Given the description of an element on the screen output the (x, y) to click on. 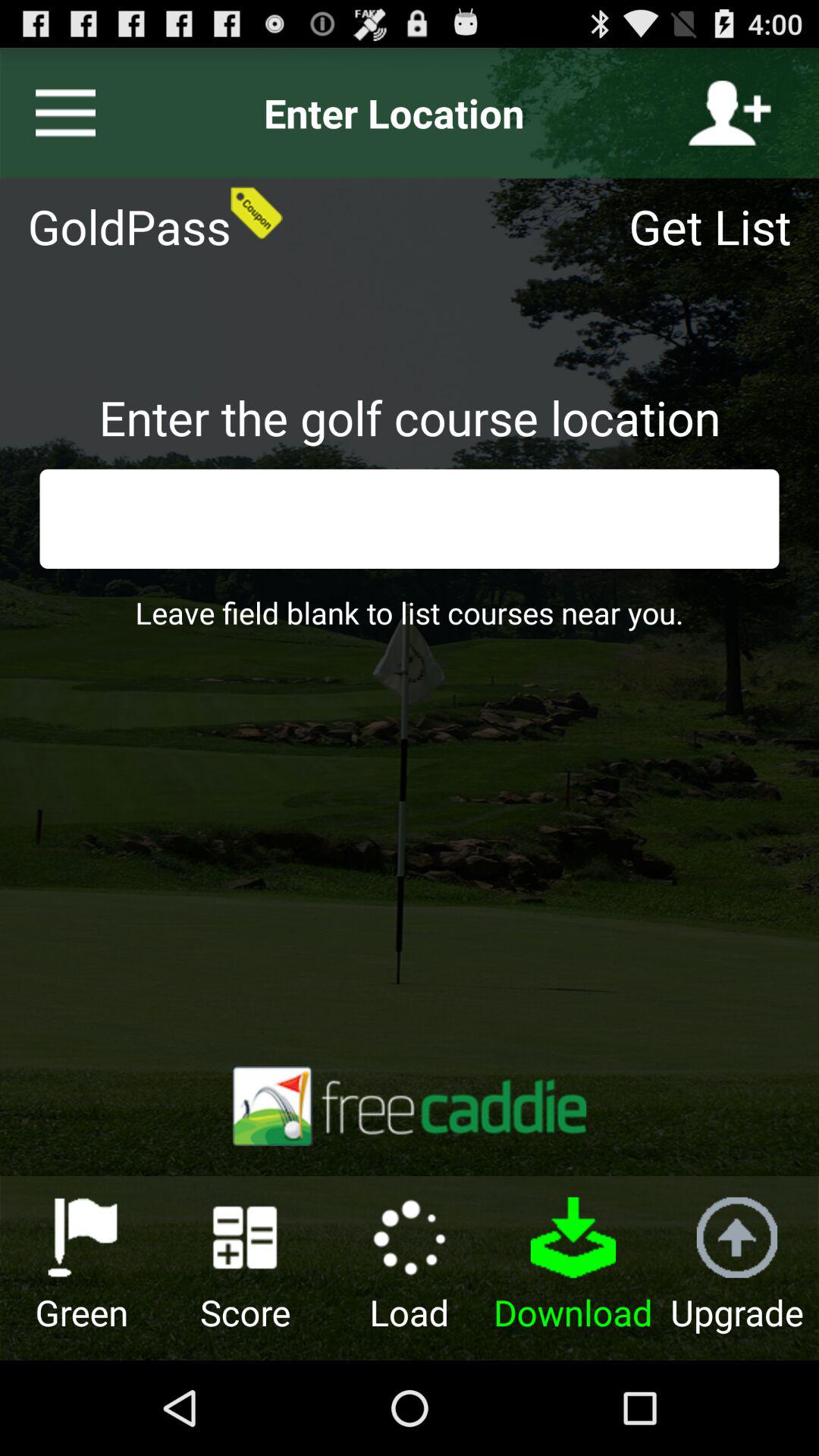
toggle bookmark option (59, 112)
